Given the description of an element on the screen output the (x, y) to click on. 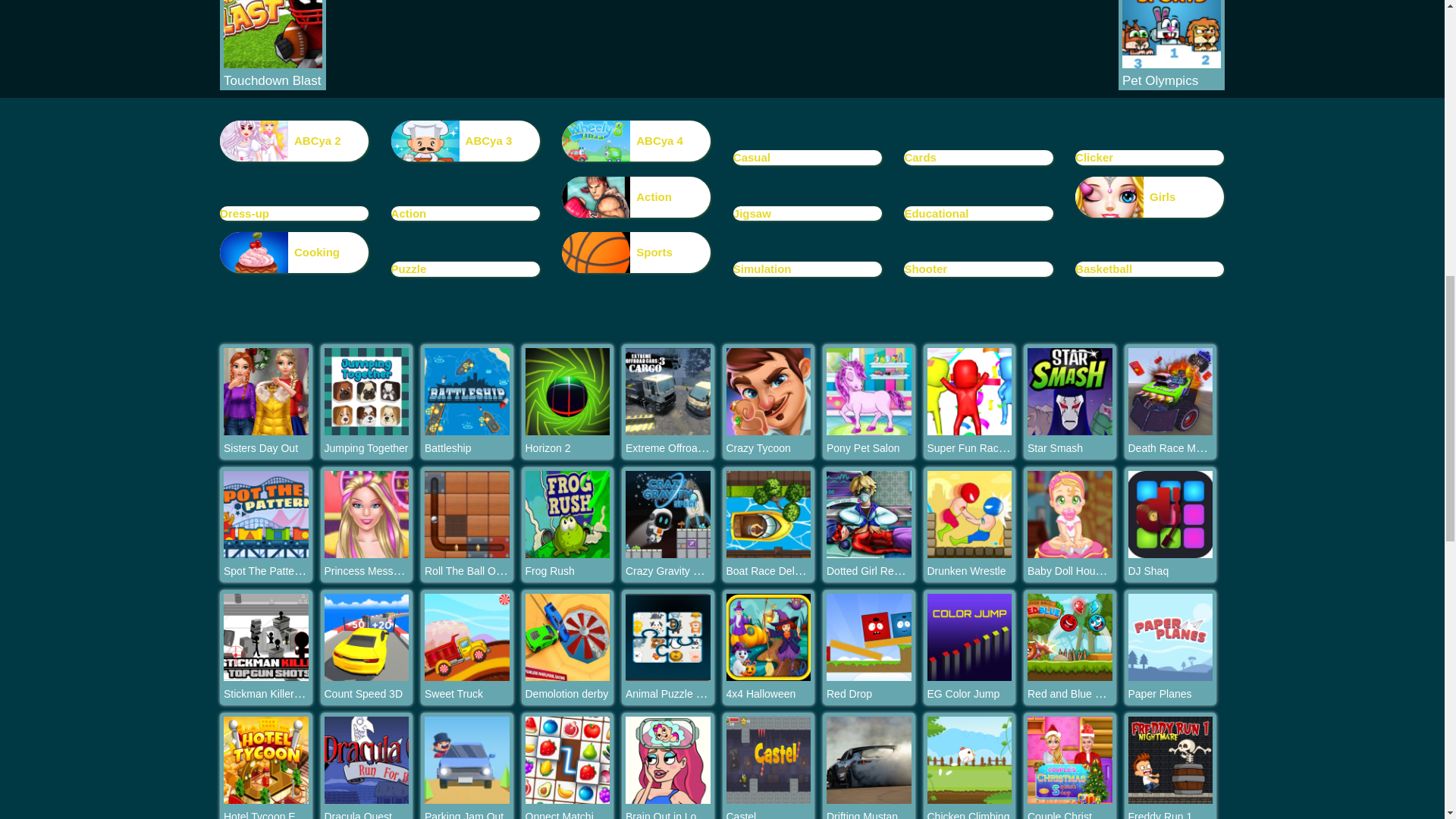
Touchdown Blast (272, 80)
